Given the description of an element on the screen output the (x, y) to click on. 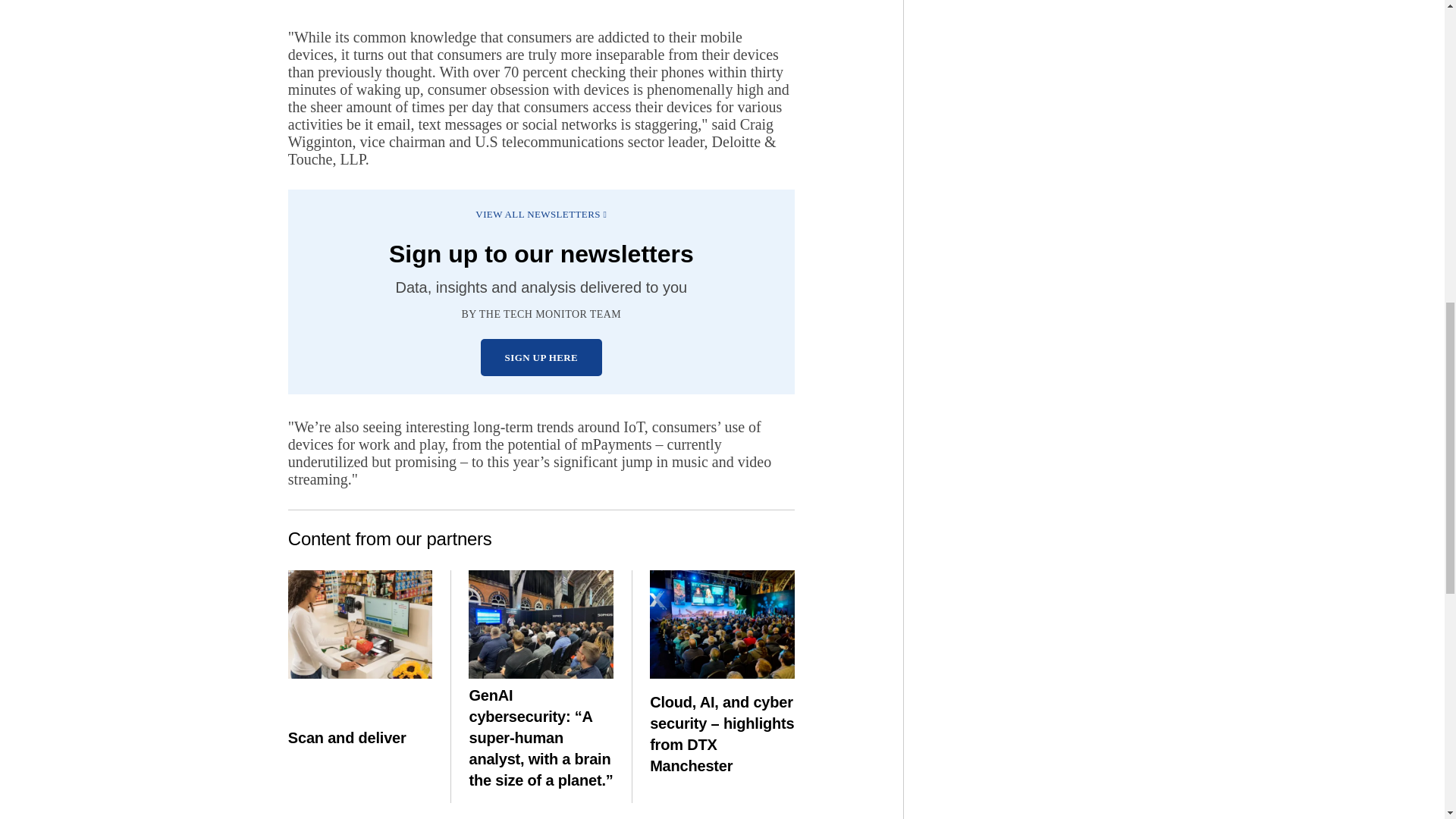
Scan and deliver (360, 624)
